Given the description of an element on the screen output the (x, y) to click on. 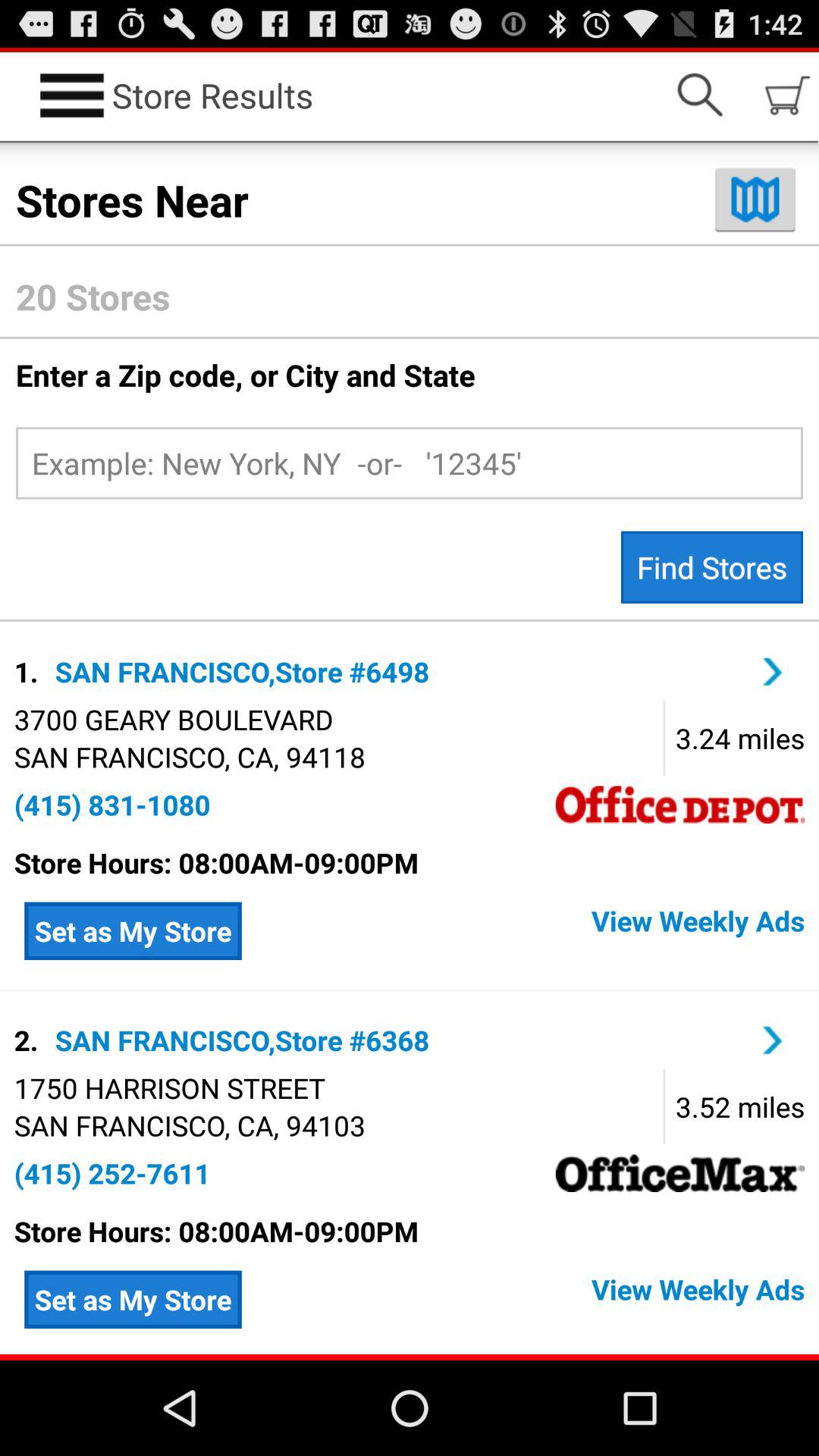
tap app above the 1750 harrison street item (29, 1040)
